Given the description of an element on the screen output the (x, y) to click on. 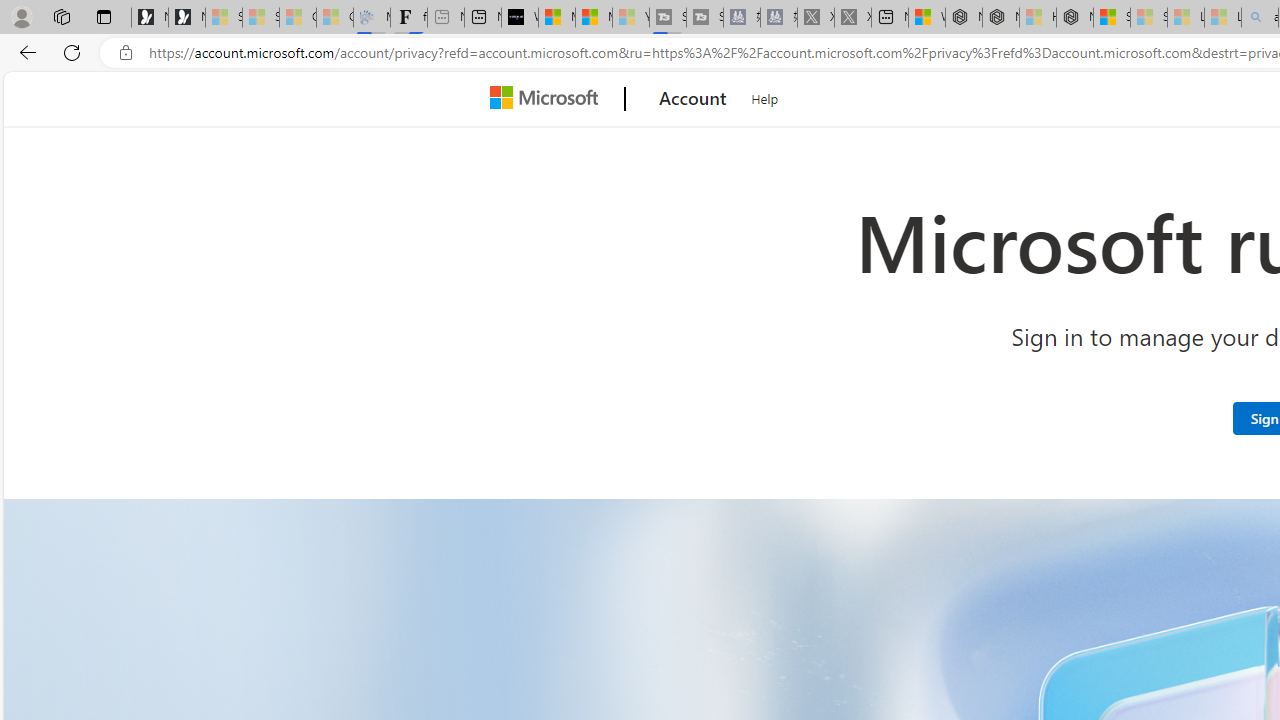
New tab - Sleeping (445, 17)
View site information (125, 53)
What's the best AI voice generator? - voice.ai (519, 17)
Microsoft Start (593, 17)
Microsoft (548, 99)
Streaming Coverage | T3 - Sleeping (668, 17)
Workspaces (61, 16)
